Given the description of an element on the screen output the (x, y) to click on. 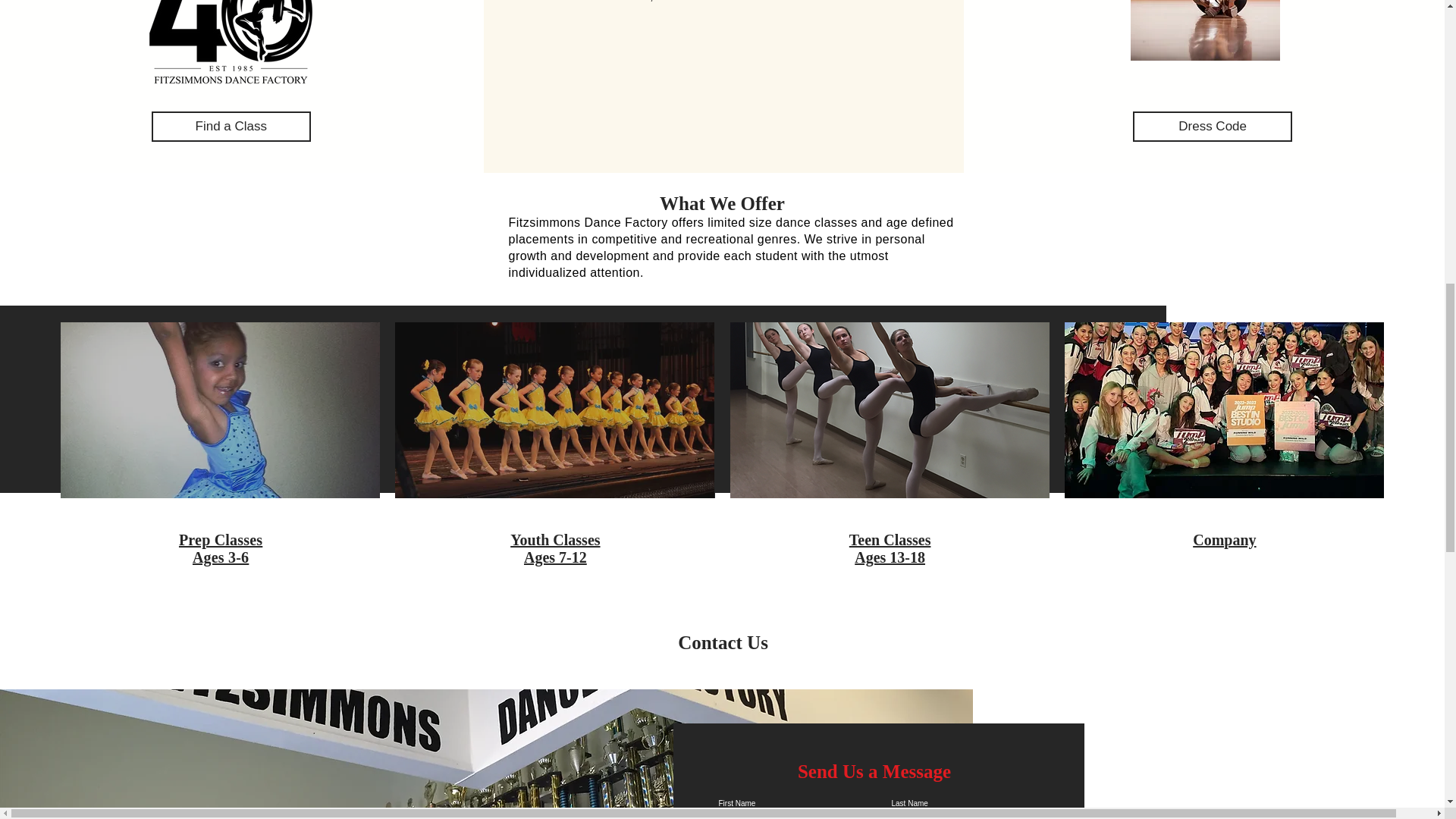
Company (1223, 539)
Dress Code (220, 548)
Find a Class (1212, 126)
